Given the description of an element on the screen output the (x, y) to click on. 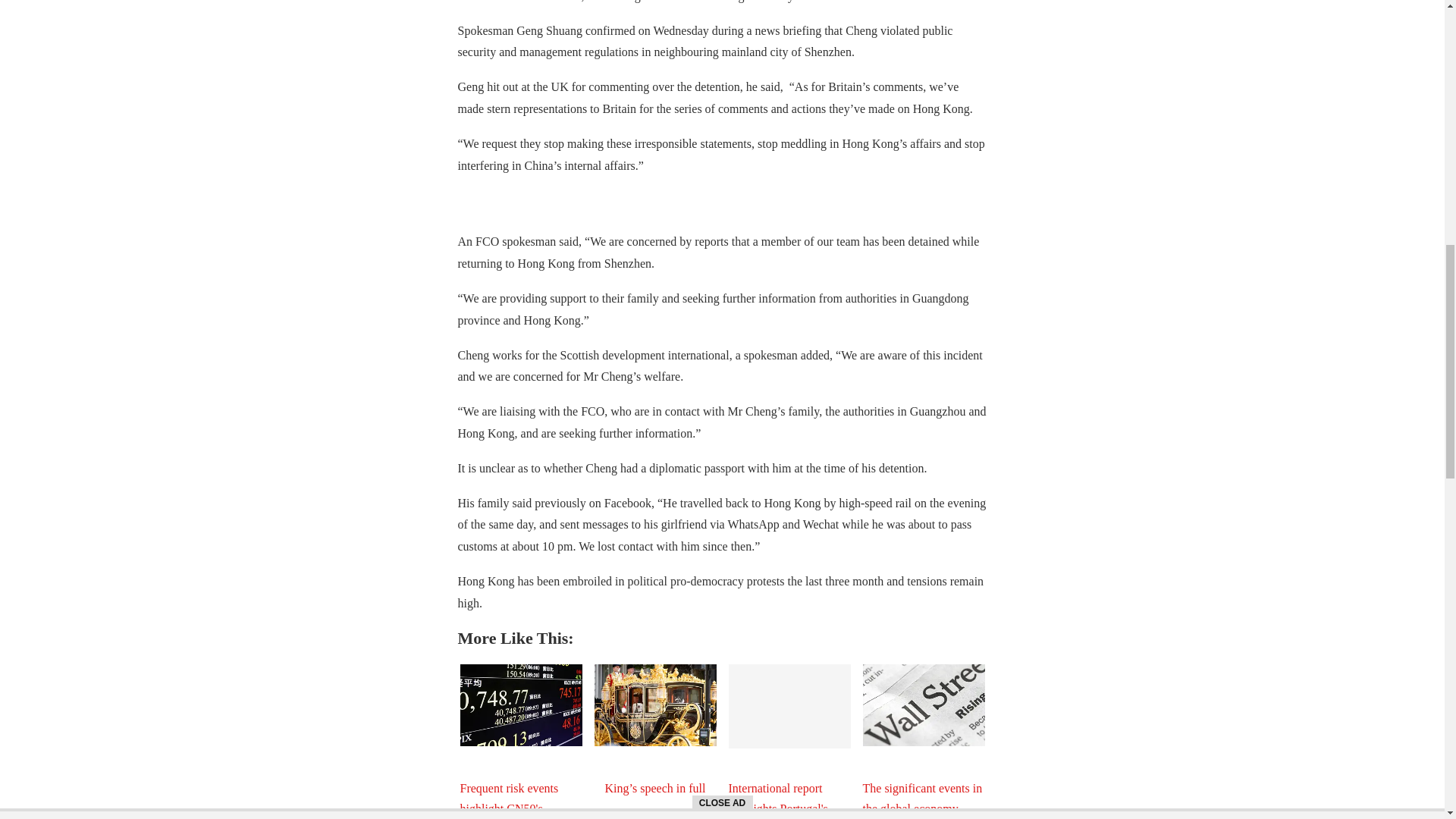
Frequent risk events highlight CN50's comparative advantage (520, 704)
